Given the description of an element on the screen output the (x, y) to click on. 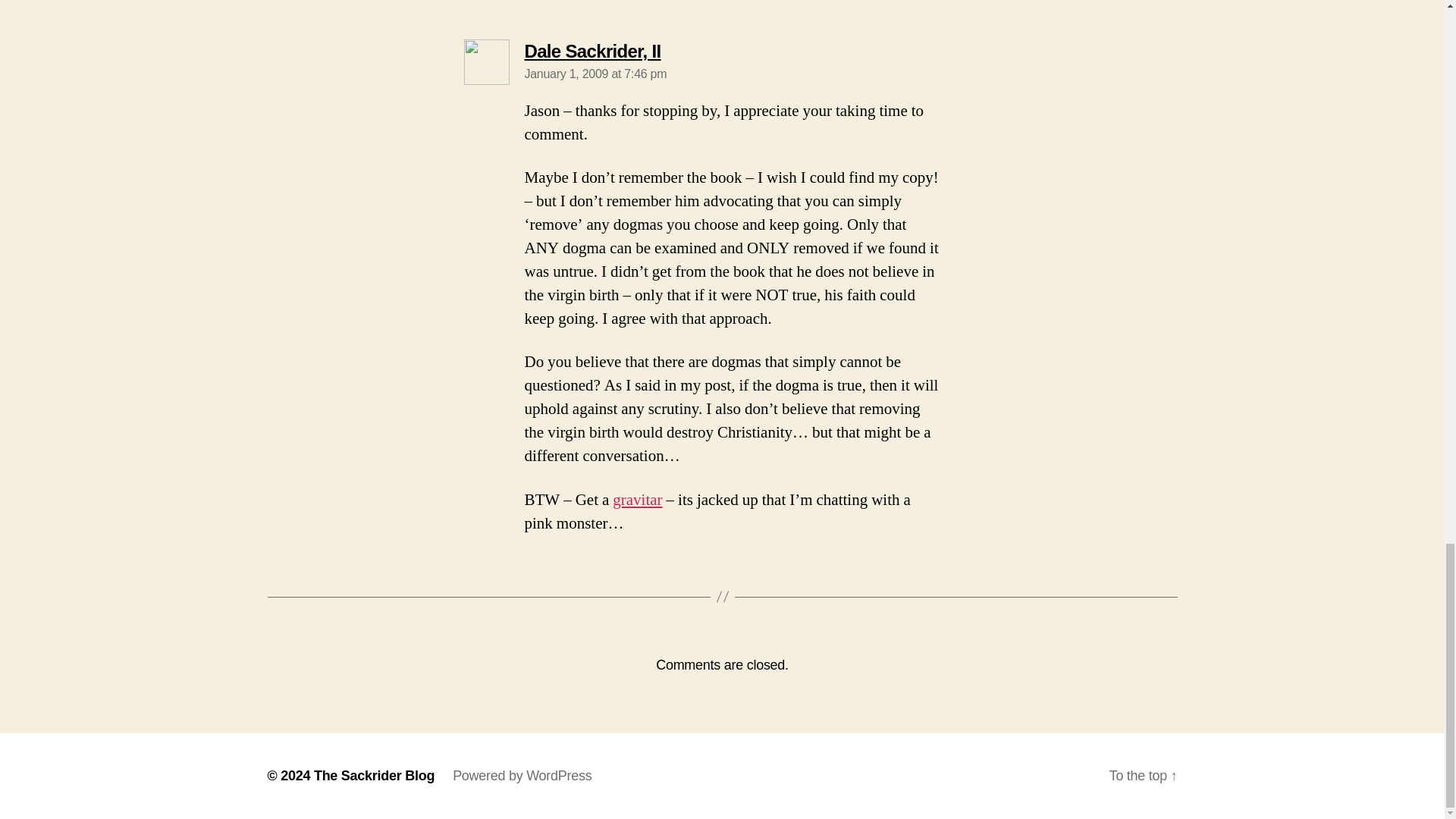
January 1, 2009 at 7:46 pm (595, 73)
The Sackrider Blog (592, 50)
Powered by WordPress (373, 775)
gravitar (521, 775)
